Given the description of an element on the screen output the (x, y) to click on. 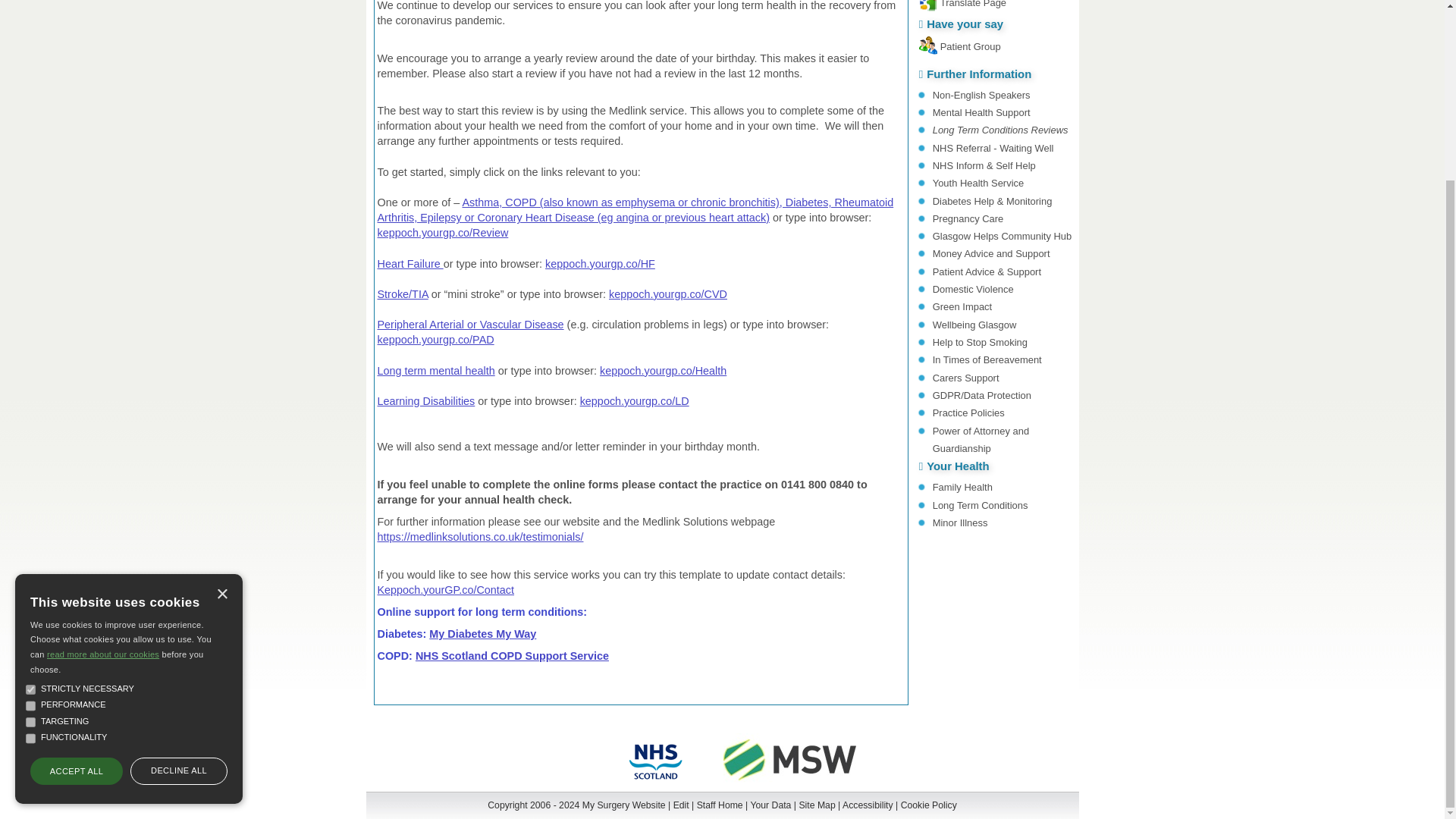
ACCEPT ALL (76, 549)
DECLINE ALL (179, 549)
NHS Scotland (655, 782)
Patient Group (970, 46)
functionality (30, 516)
read more about our cookies (102, 432)
performance (30, 484)
targeting (30, 501)
strict (30, 468)
